Given the description of an element on the screen output the (x, y) to click on. 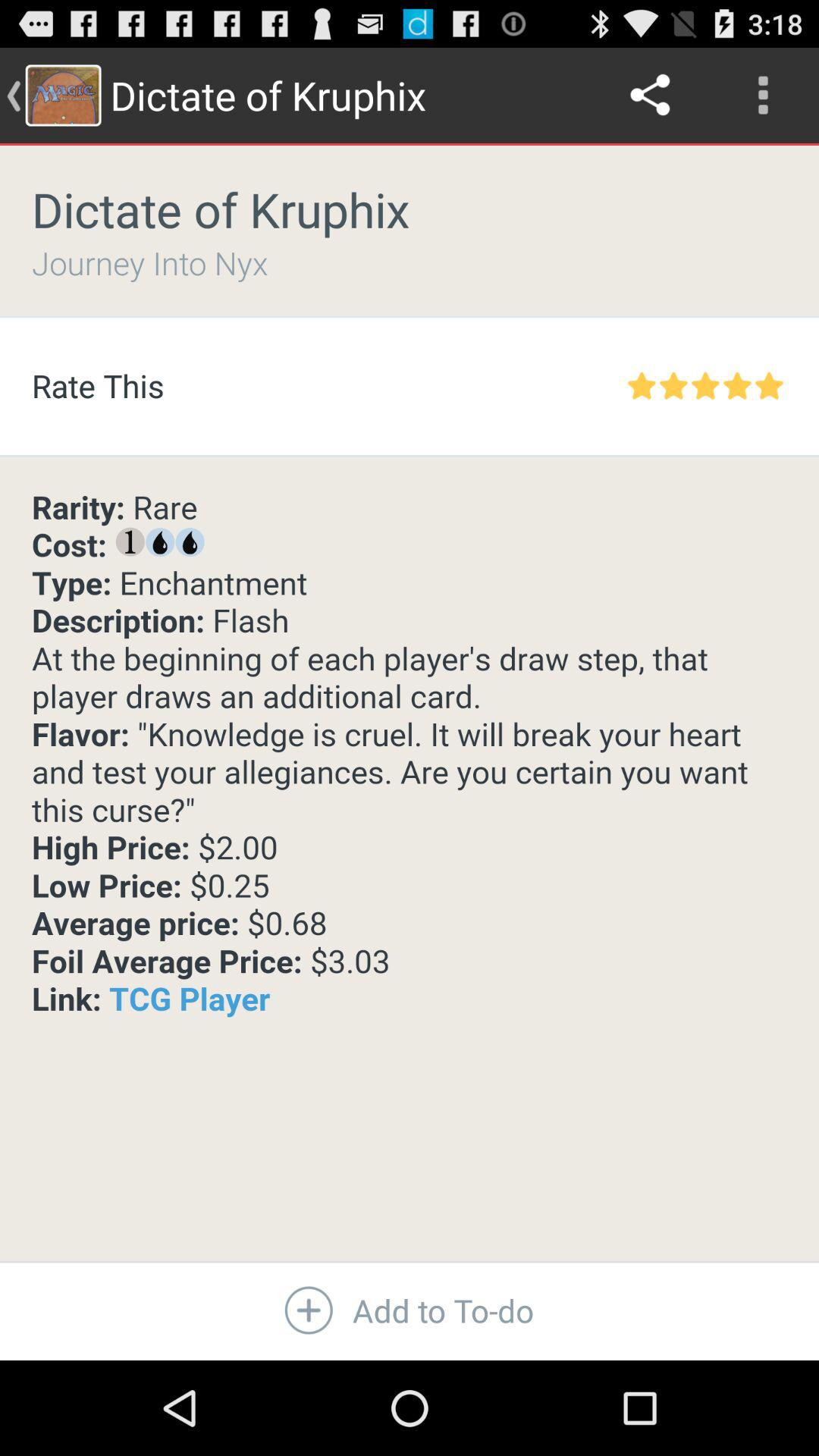
open the item above add to to icon (409, 753)
